Given the description of an element on the screen output the (x, y) to click on. 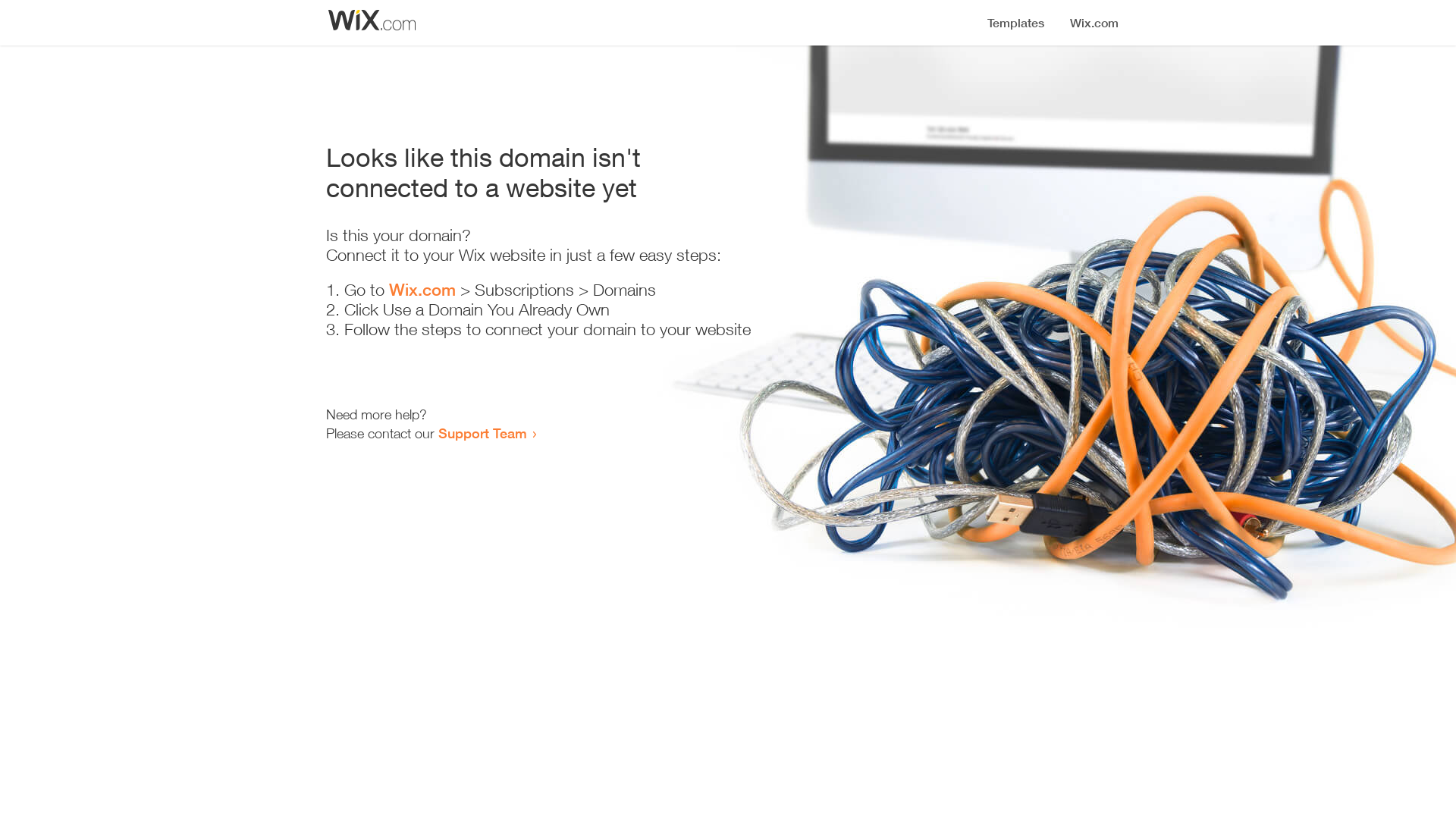
Wix.com Element type: text (422, 289)
Support Team Element type: text (482, 432)
